Given the description of an element on the screen output the (x, y) to click on. 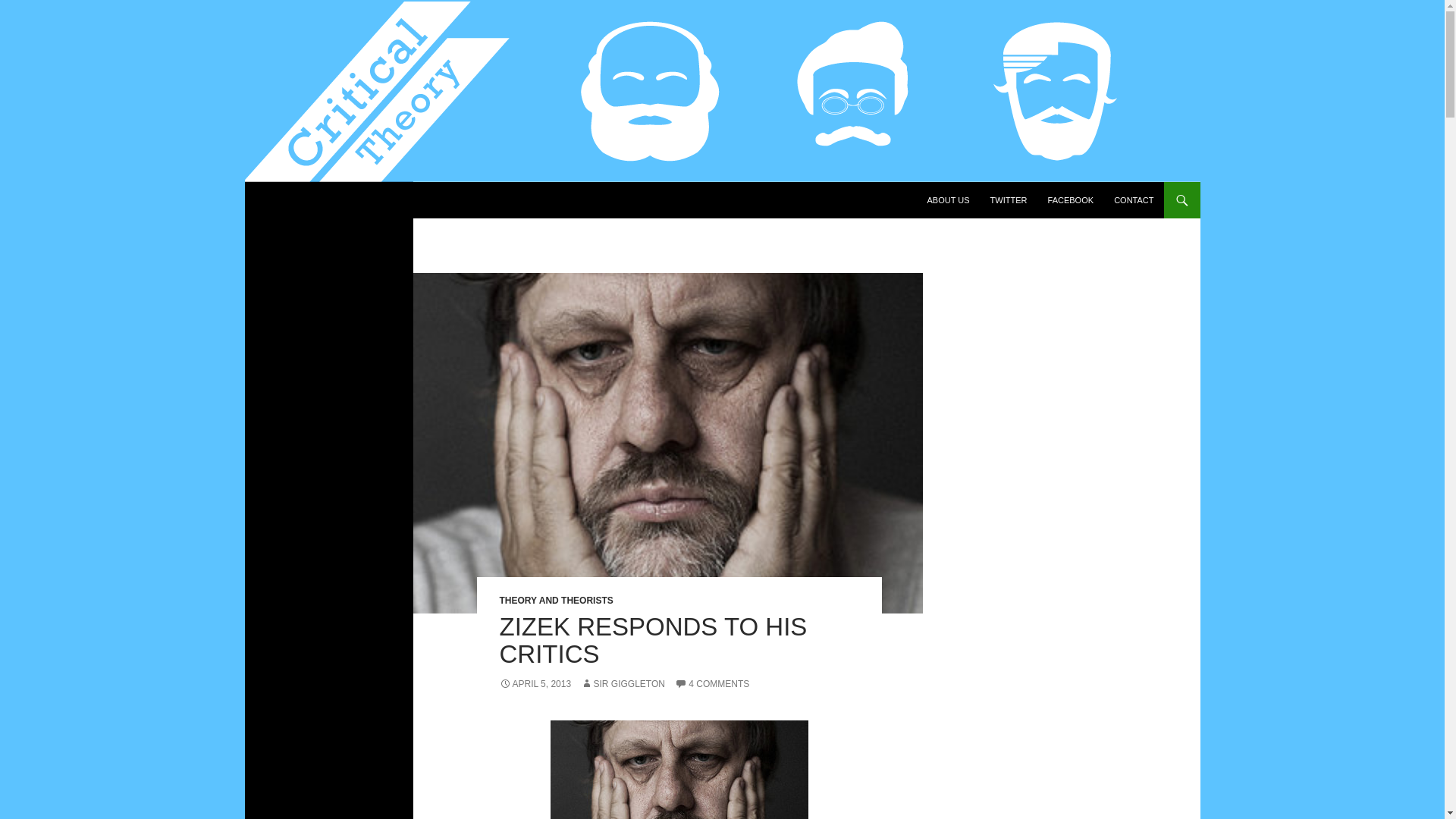
ABOUT US (947, 199)
Critical-Theory.com (330, 199)
4 COMMENTS (712, 683)
SIR GIGGLETON (621, 683)
TWITTER (1008, 199)
CONTACT (1133, 199)
APRIL 5, 2013 (534, 683)
FACEBOOK (1071, 199)
THEORY AND THEORISTS (555, 600)
